Given the description of an element on the screen output the (x, y) to click on. 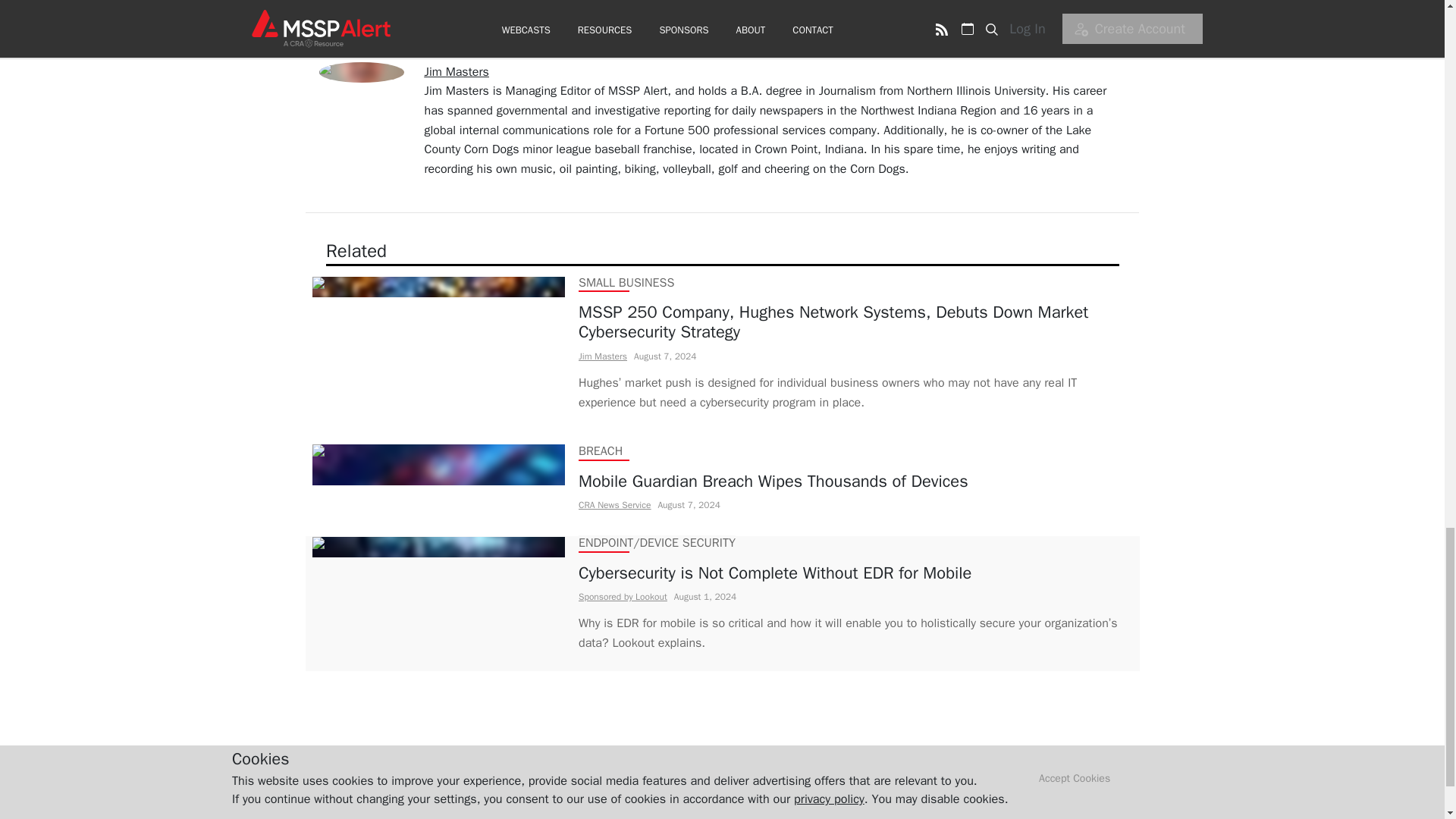
CRA News Service (613, 504)
SMALL BUSINESS (625, 282)
Mobile Guardian Breach Wipes Thousands of Devices (773, 481)
BREACH (599, 451)
Sponsored by Lookout (622, 596)
Jim Masters (457, 71)
Jim Masters (602, 356)
Cybersecurity is Not Complete Without EDR for Mobile (855, 573)
